Given the description of an element on the screen output the (x, y) to click on. 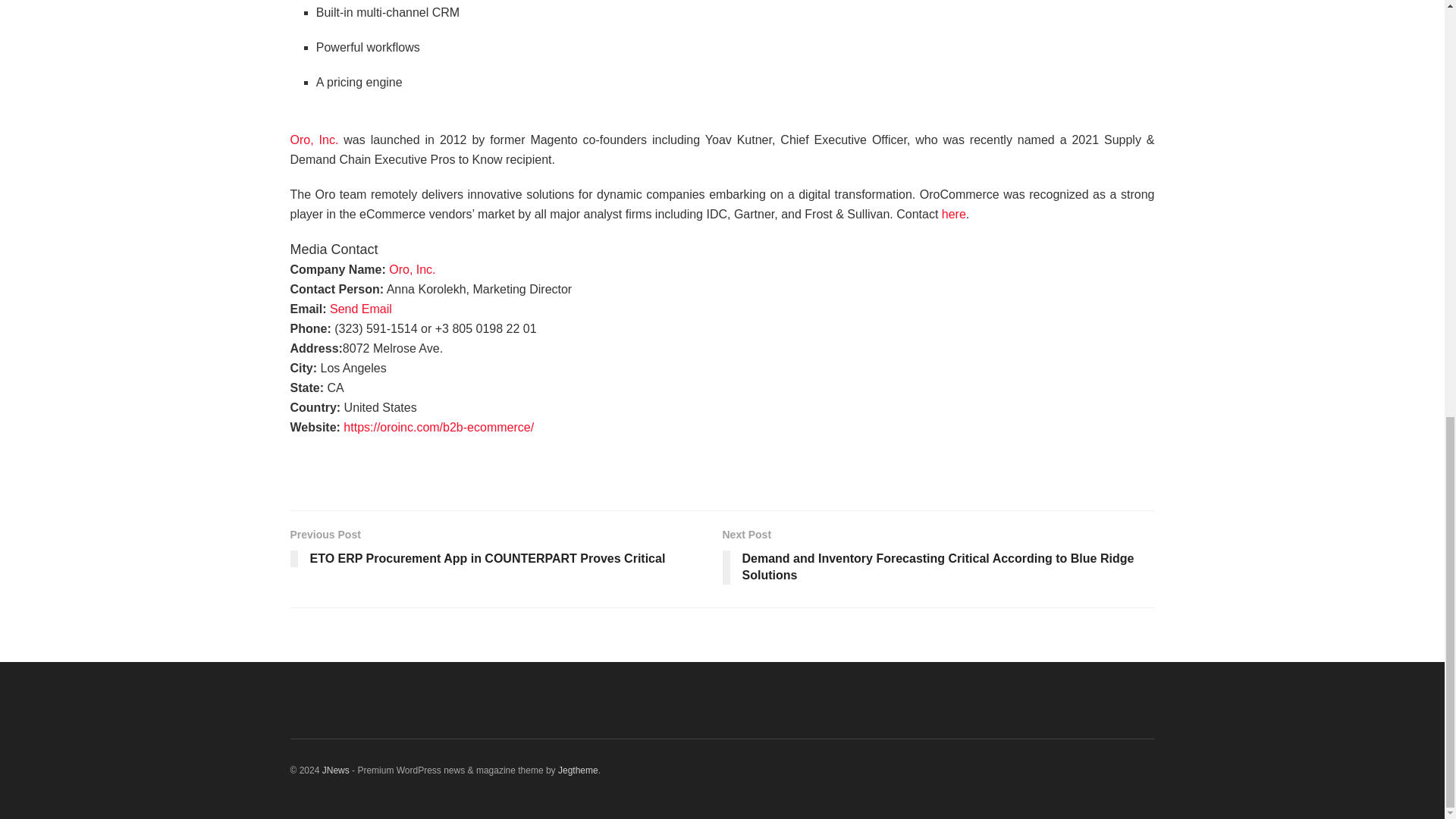
here (954, 214)
Oro, Inc. (313, 149)
Jegtheme (577, 769)
Jegtheme (577, 769)
JNews (335, 769)
Send Email (360, 308)
Oro, Inc. (411, 269)
